Given the description of an element on the screen output the (x, y) to click on. 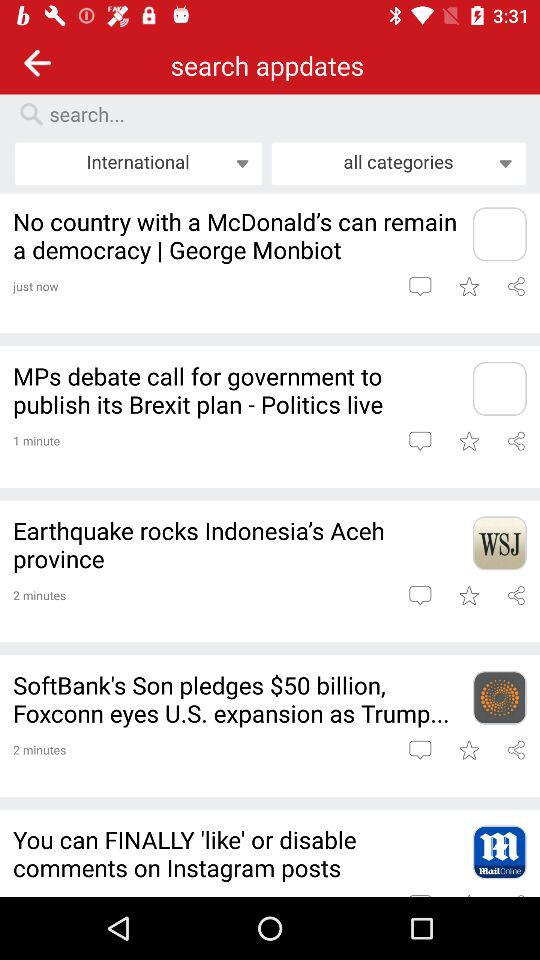
article logo (499, 388)
